Given the description of an element on the screen output the (x, y) to click on. 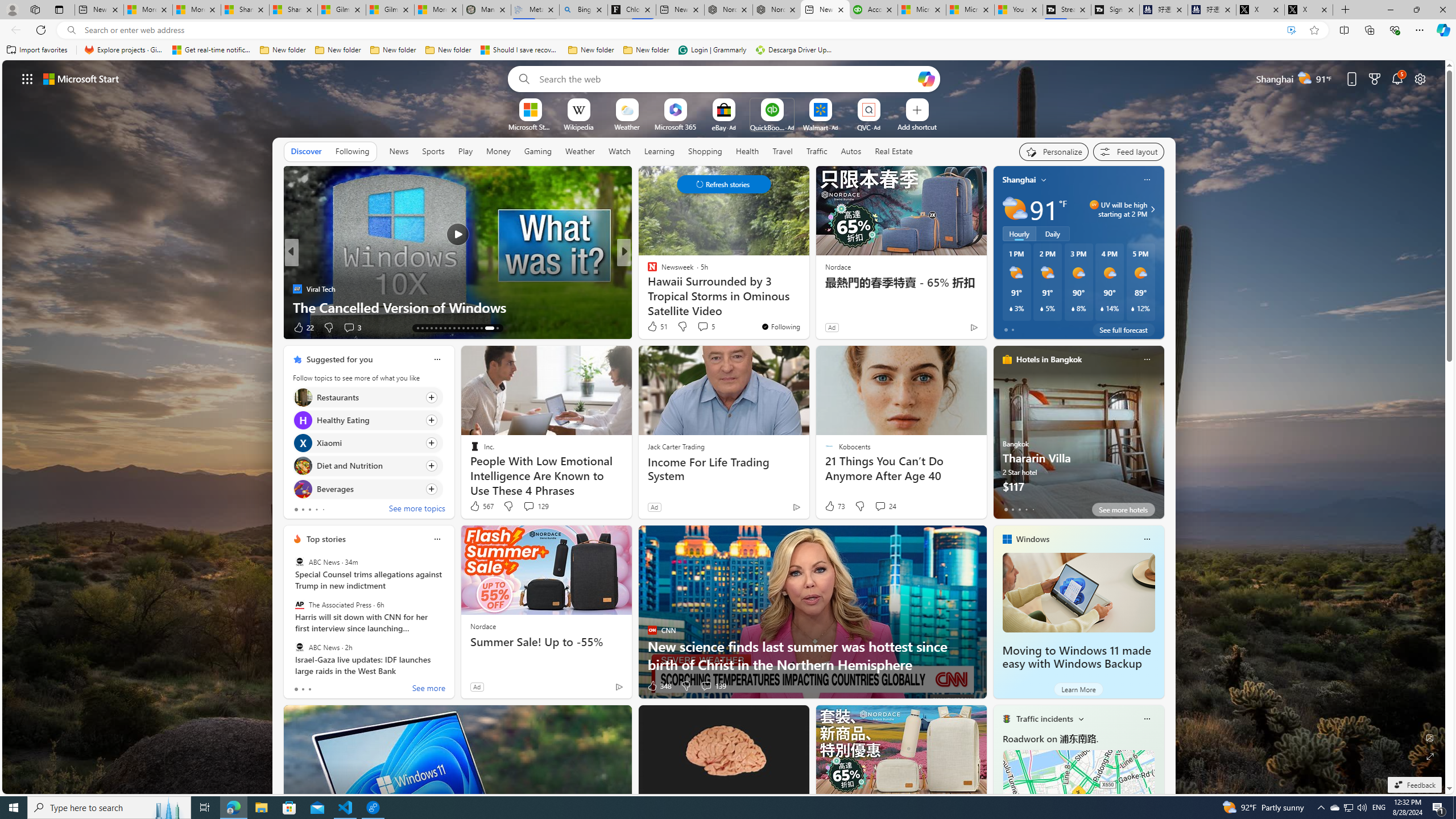
Enhance video (1291, 29)
Suggested for you (338, 359)
Windows (1032, 538)
Learning (658, 151)
567 Like (480, 505)
Add a site (916, 126)
Accounting Software for Accountants, CPAs and Bookkeepers (873, 9)
View comments 129 Comment (528, 505)
